Given the description of an element on the screen output the (x, y) to click on. 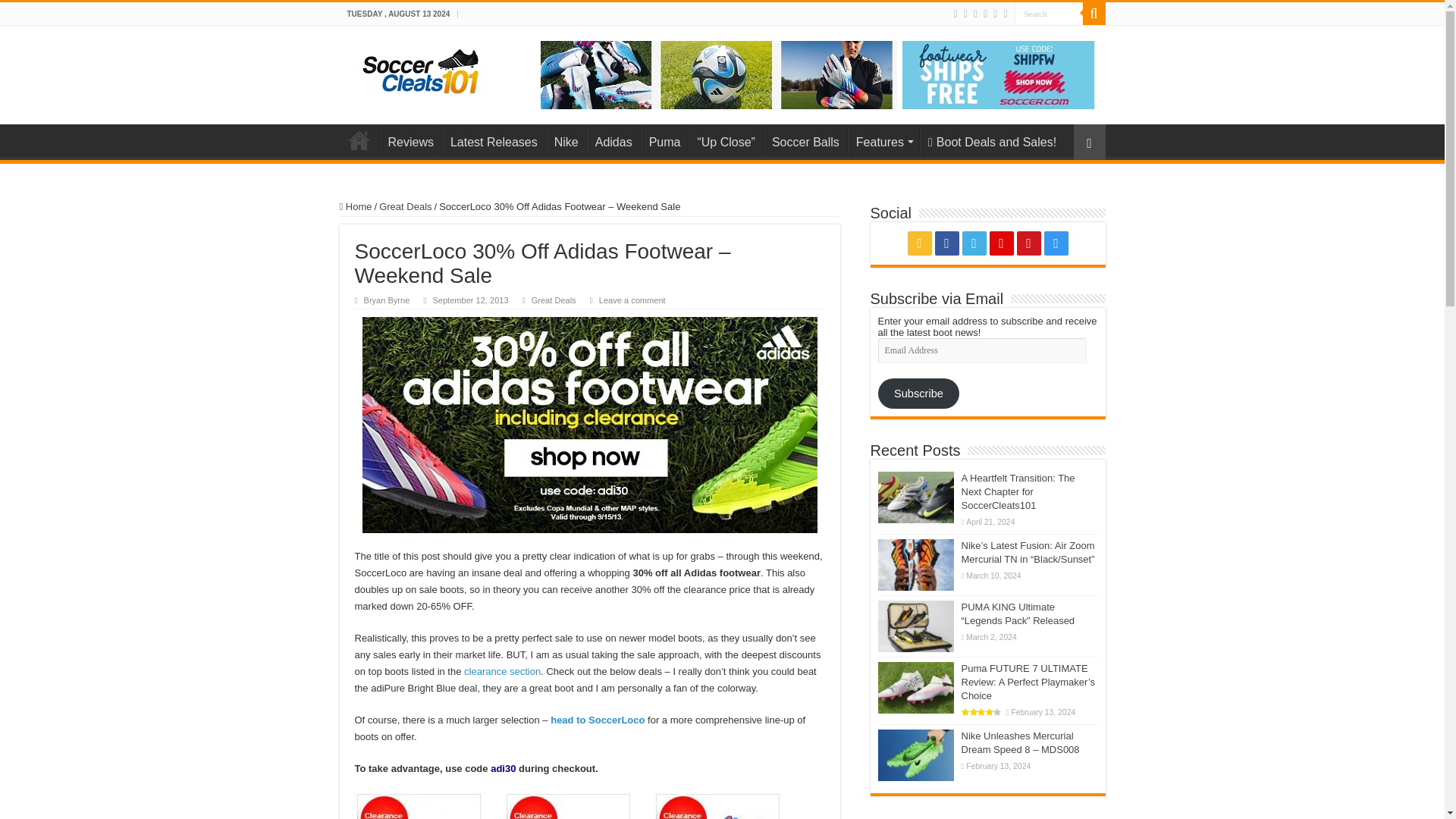
Search (1048, 13)
Latest Releases (493, 140)
Adidas (613, 140)
Search (1048, 13)
Reviews (409, 140)
Search (1094, 13)
Puma (664, 140)
Search (1048, 13)
Home (358, 140)
Nike (566, 140)
